Given the description of an element on the screen output the (x, y) to click on. 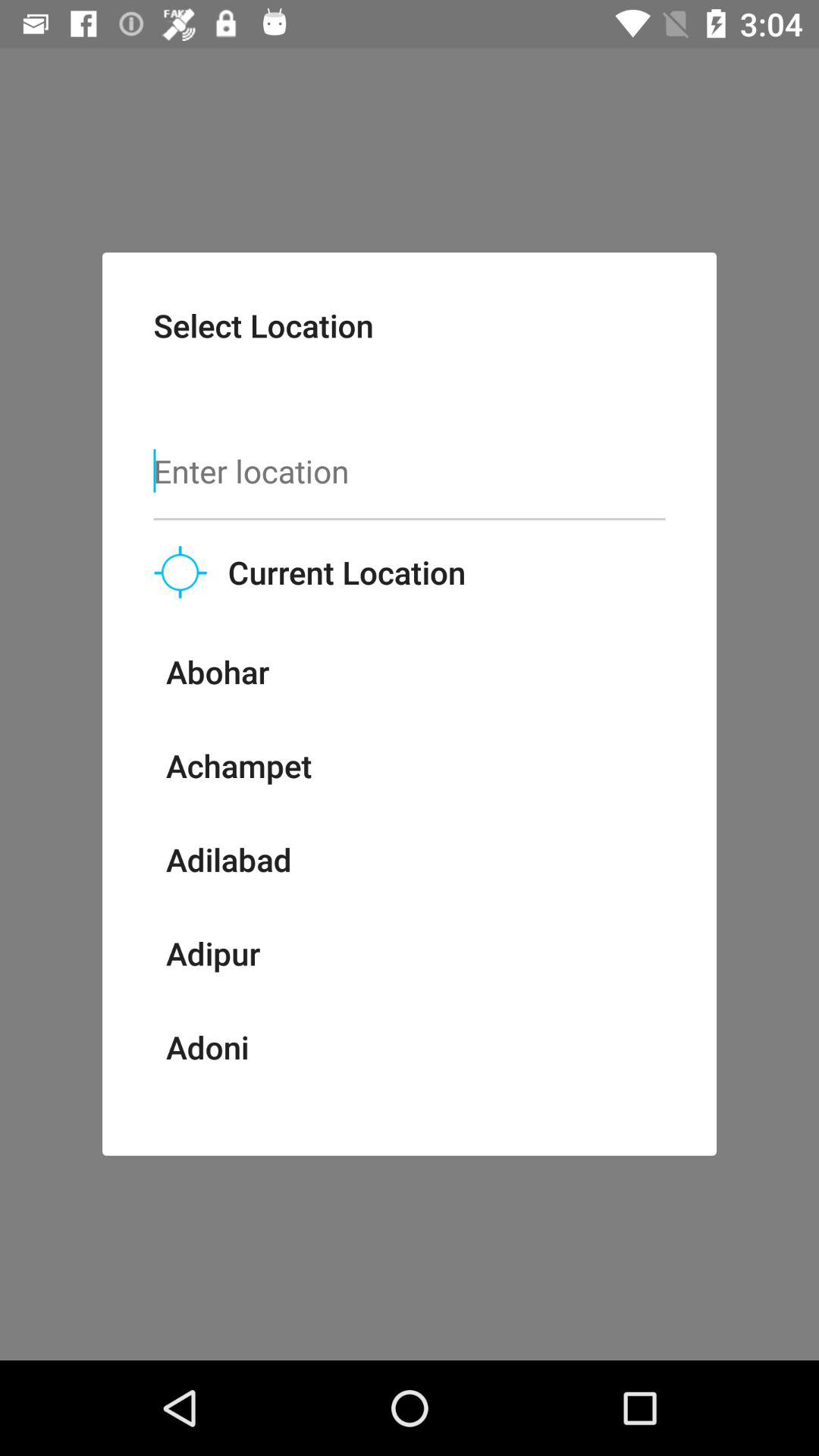
turn on item below the adilabad item (213, 953)
